Given the description of an element on the screen output the (x, y) to click on. 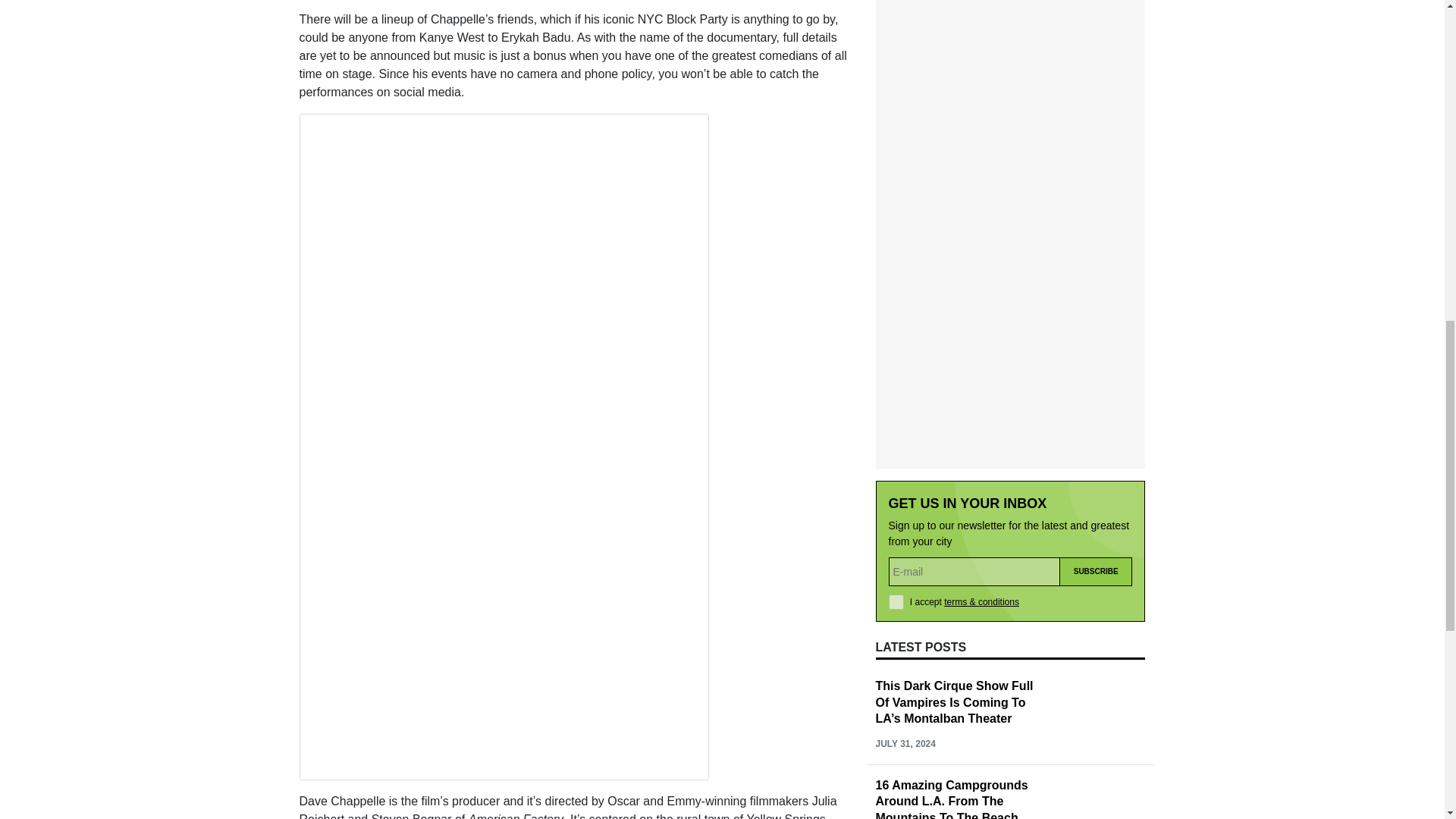
Subscribe (1095, 378)
Subscribe (1095, 378)
JULY 31, 2024 (904, 649)
JULY 31, 2024 (904, 550)
1 (896, 408)
JULY 30, 2024 (904, 748)
